Given the description of an element on the screen output the (x, y) to click on. 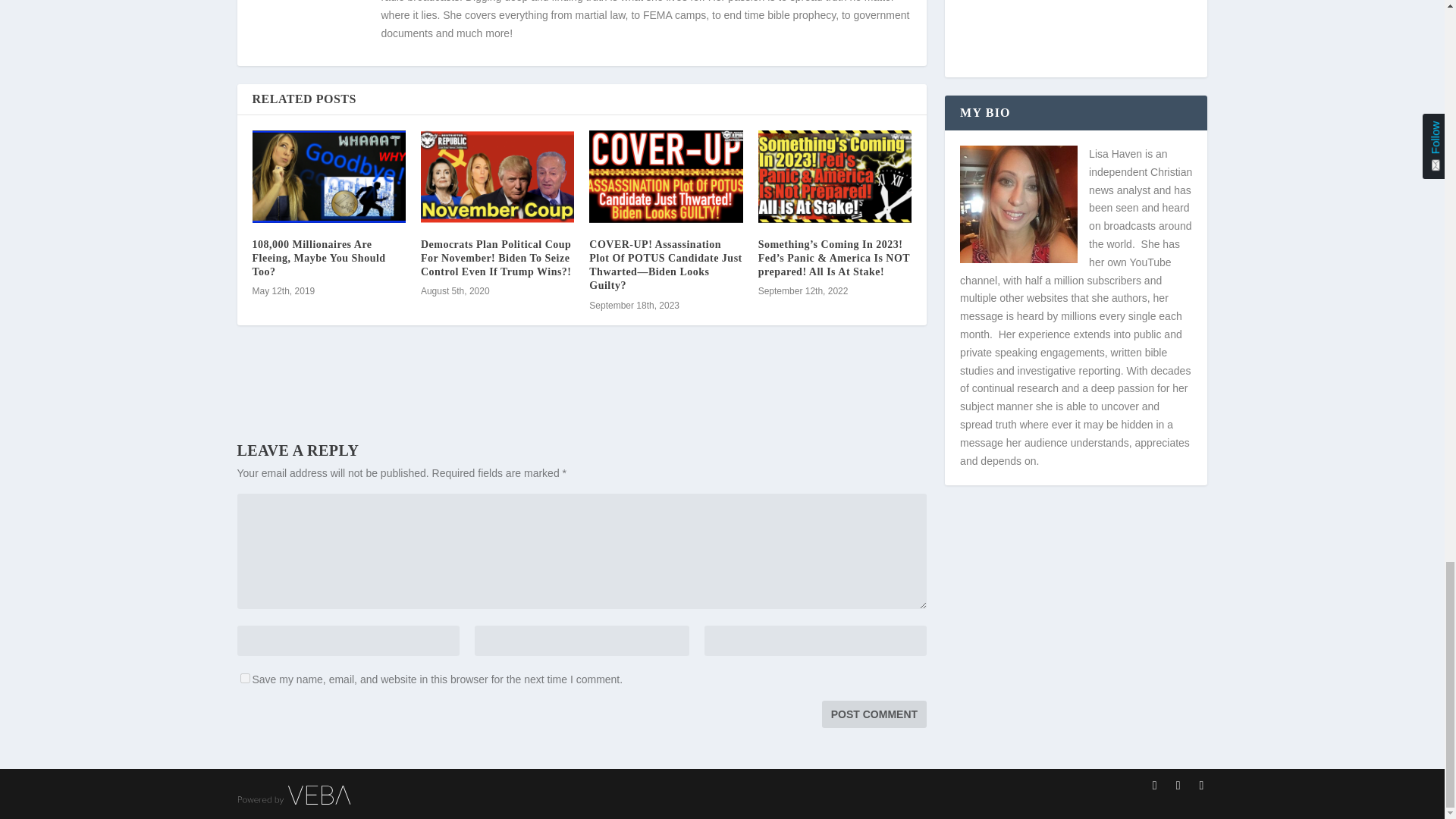
Post Comment (874, 714)
yes (244, 678)
